Given the description of an element on the screen output the (x, y) to click on. 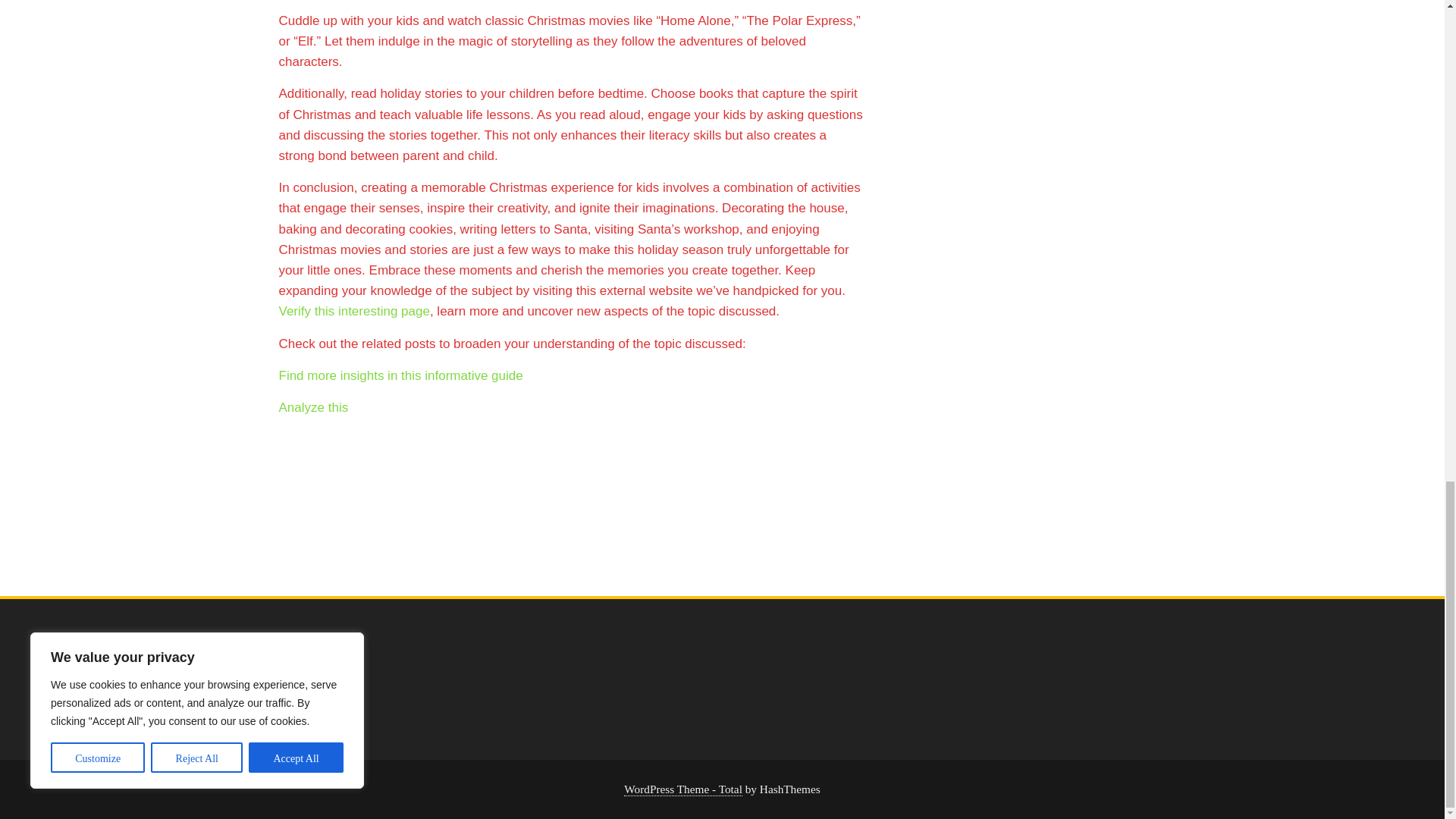
Verify this interesting page (354, 310)
Analyze this (314, 407)
Find more insights in this informative guide (400, 375)
